Given the description of an element on the screen output the (x, y) to click on. 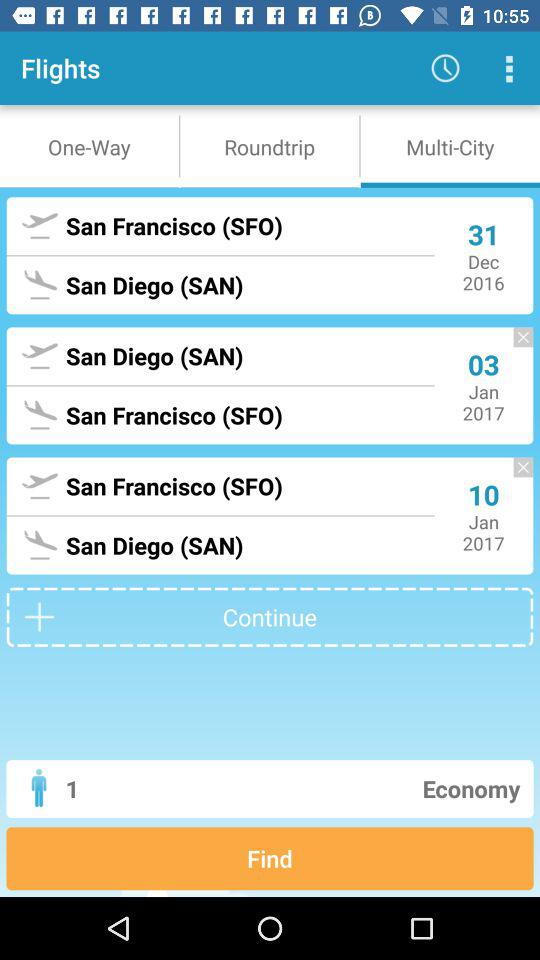
apps (508, 67)
